Given the description of an element on the screen output the (x, y) to click on. 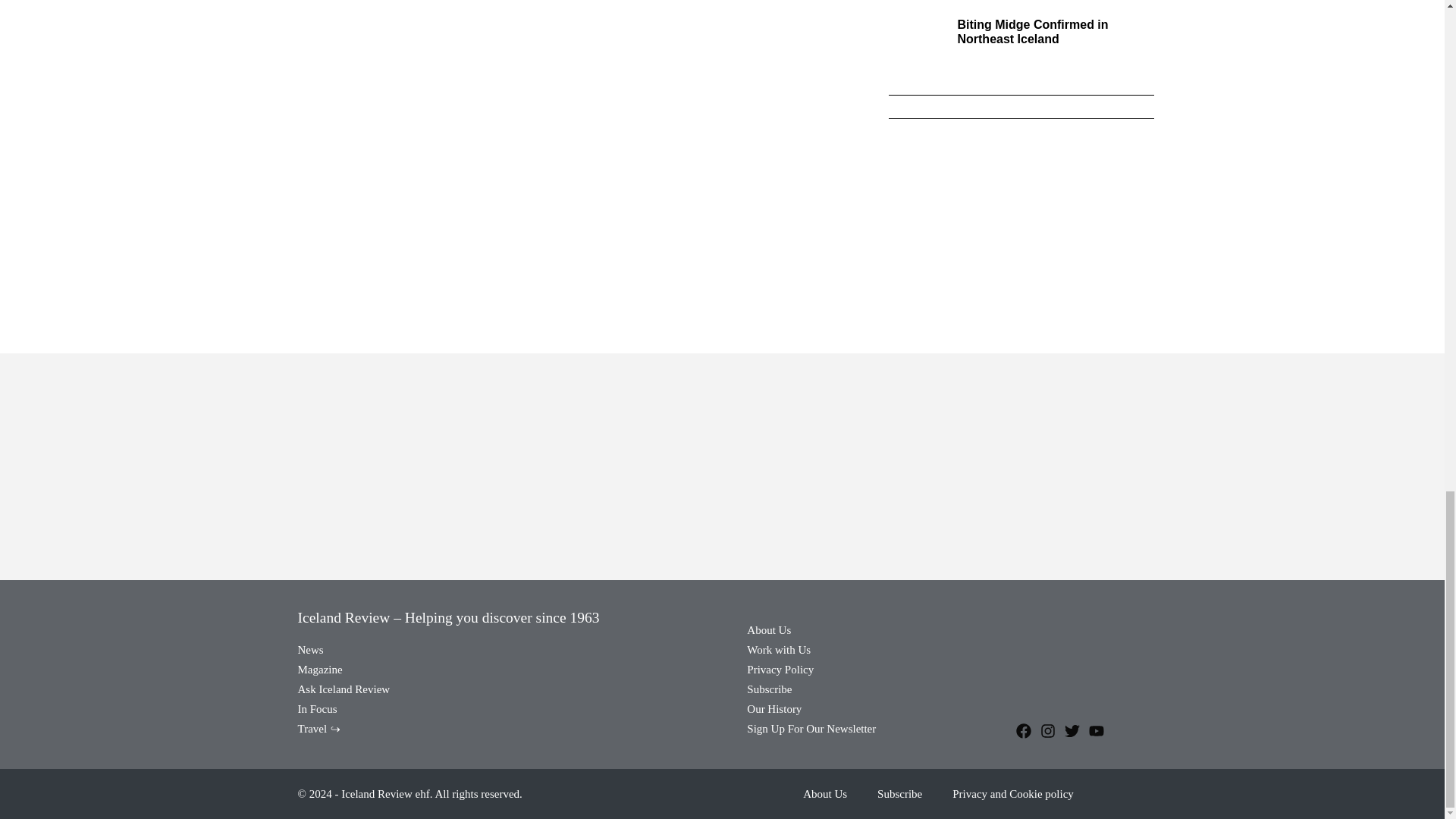
Biting Midge Confirmed in Northeast Iceland (1032, 31)
